Given the description of an element on the screen output the (x, y) to click on. 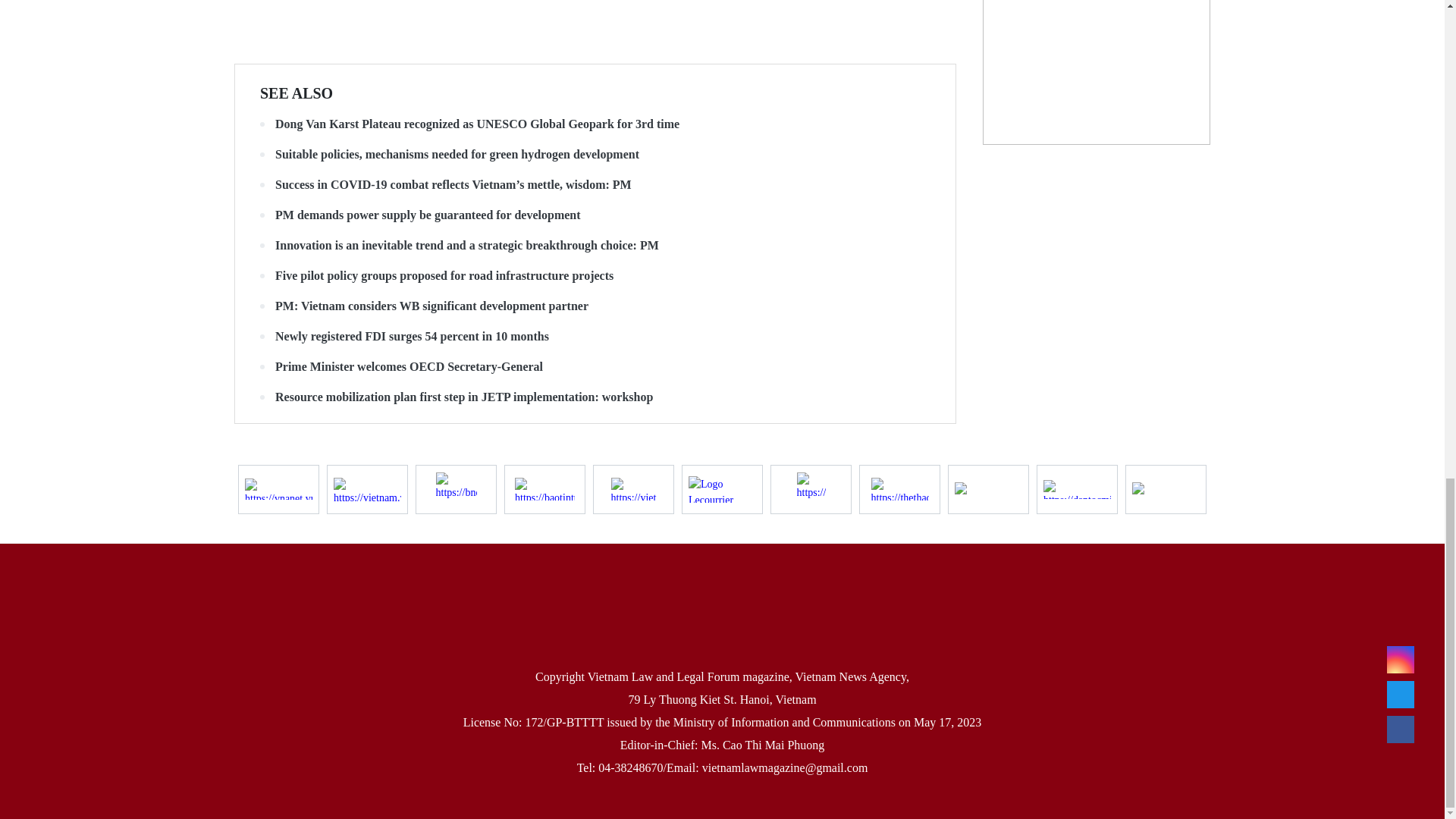
SEE ALSO (296, 92)
PM demands power supply be guaranteed for development (595, 215)
Newly registered FDI surges 54 percent in 10 months (595, 336)
PM: Vietnam considers WB significant development partner (595, 305)
Prime Minister welcomes OECD Secretary-General (595, 366)
